Given the description of an element on the screen output the (x, y) to click on. 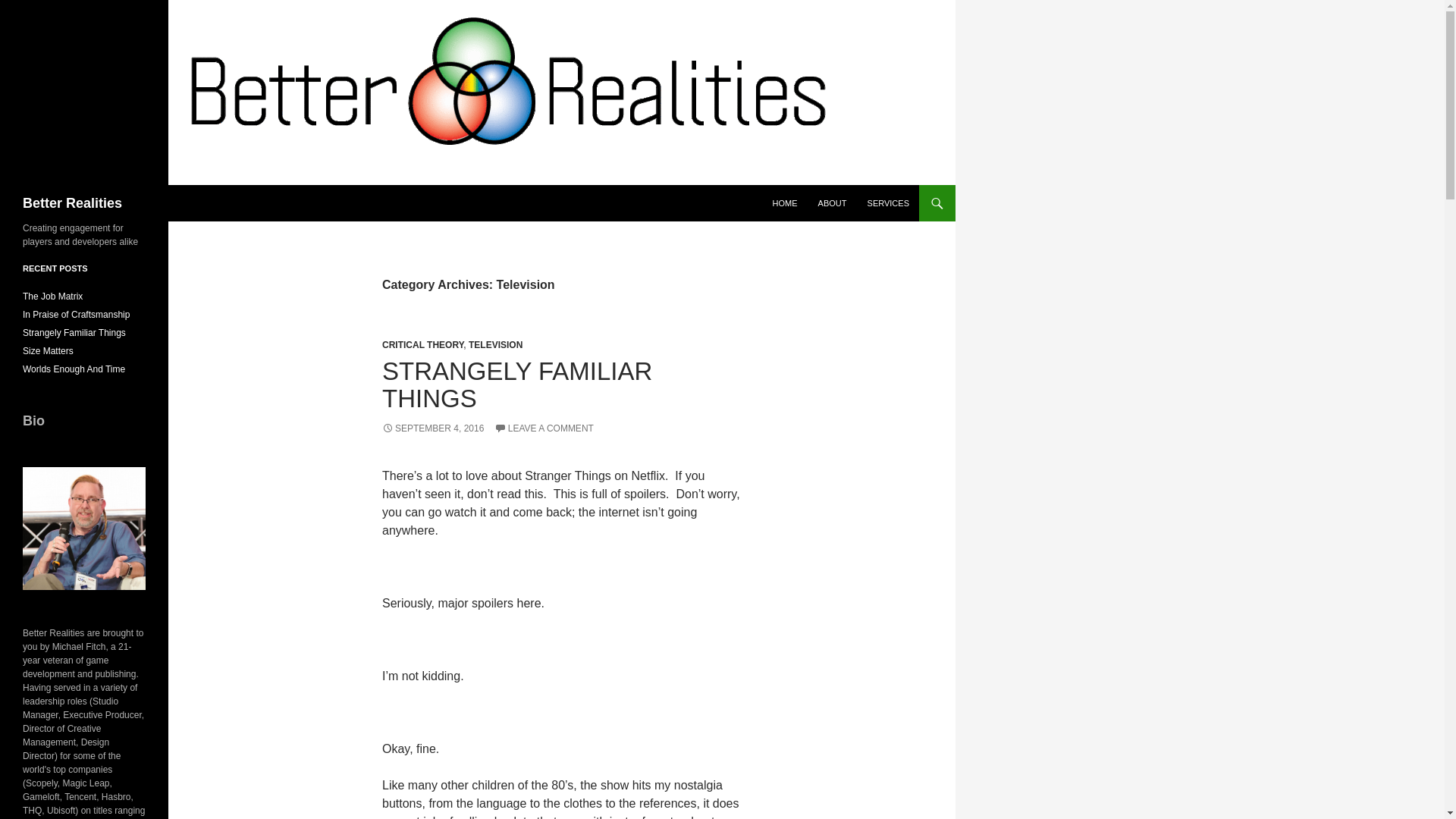
LEAVE A COMMENT (544, 428)
SERVICES (888, 203)
TELEVISION (495, 344)
Worlds Enough And Time (74, 368)
ABOUT (832, 203)
The Job Matrix (52, 296)
HOME (784, 203)
SEPTEMBER 4, 2016 (432, 428)
Strangely Familiar Things (74, 332)
Size Matters (48, 350)
STRANGELY FAMILIAR THINGS (516, 384)
In Praise of Craftsmanship (76, 314)
Better Realities (72, 203)
